Given the description of an element on the screen output the (x, y) to click on. 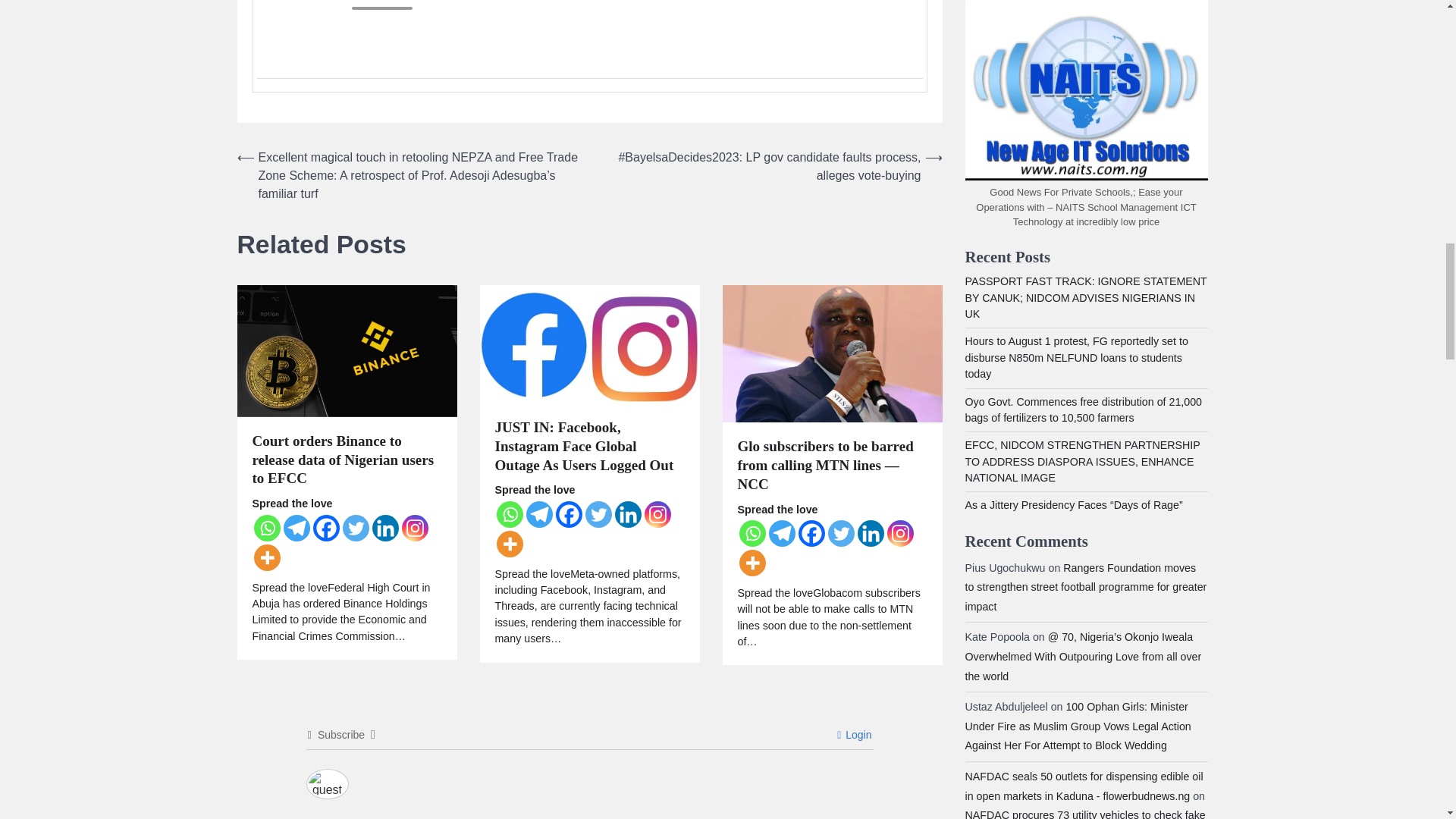
Linkedin (384, 528)
Whatsapp (266, 528)
Whatsapp (509, 514)
Instagram (414, 528)
Facebook (326, 528)
Twitter (355, 528)
Telegram (296, 528)
More (266, 557)
